Given the description of an element on the screen output the (x, y) to click on. 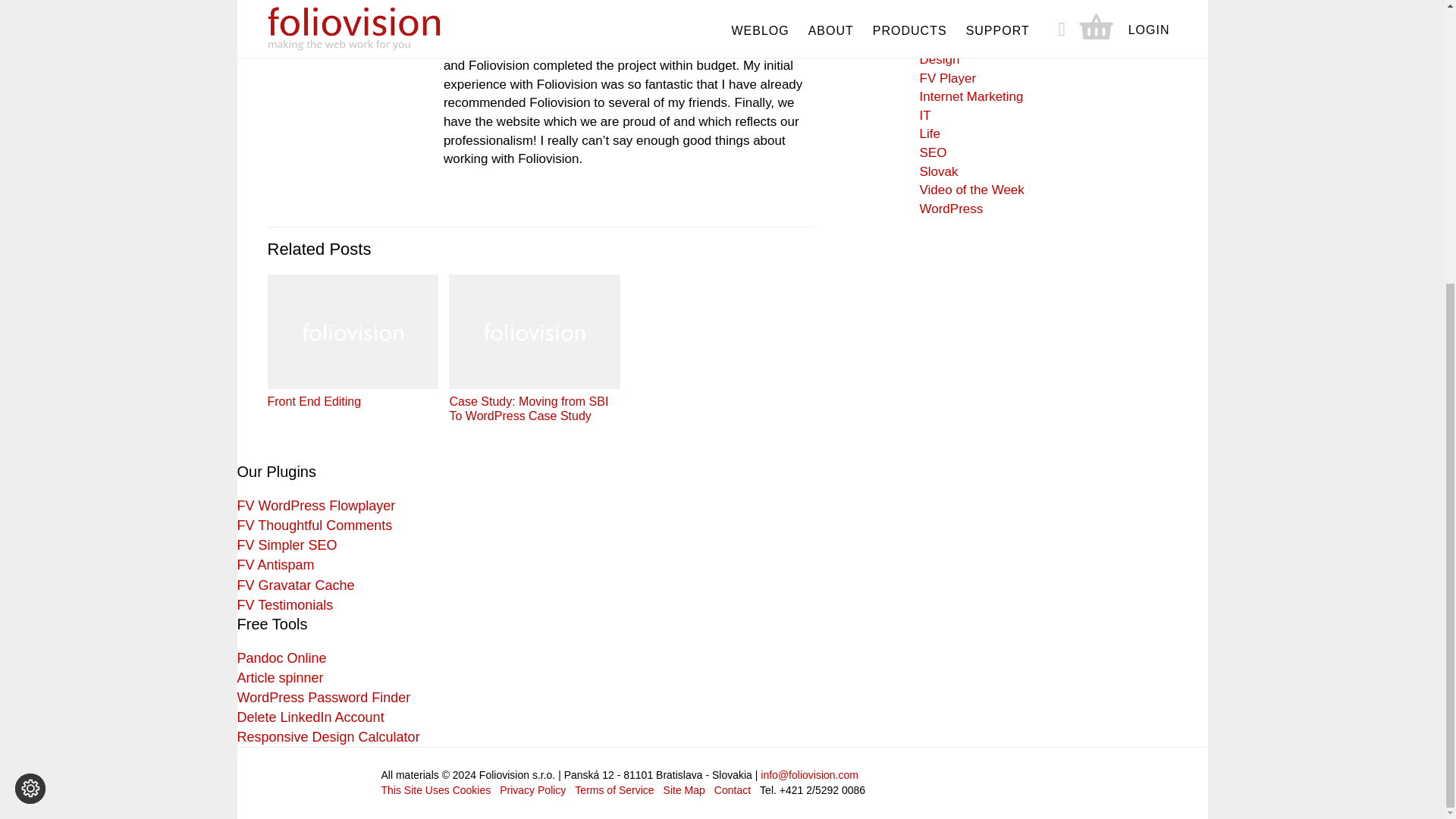
Case Study: Moving from SBI To WordPress Case Study (534, 348)
Innovations for WordPress. Neat WordPress tricks. (950, 208)
Our selection of the most interesting videos on the web. (970, 189)
All things related to SEO and SEM. (932, 152)
Online marketing strategies and directions. (970, 96)
Case Study: Moving from SBI To WordPress Case Study (534, 348)
Front End Editing (352, 341)
Business (944, 5)
Front End Editing (352, 341)
